Given the description of an element on the screen output the (x, y) to click on. 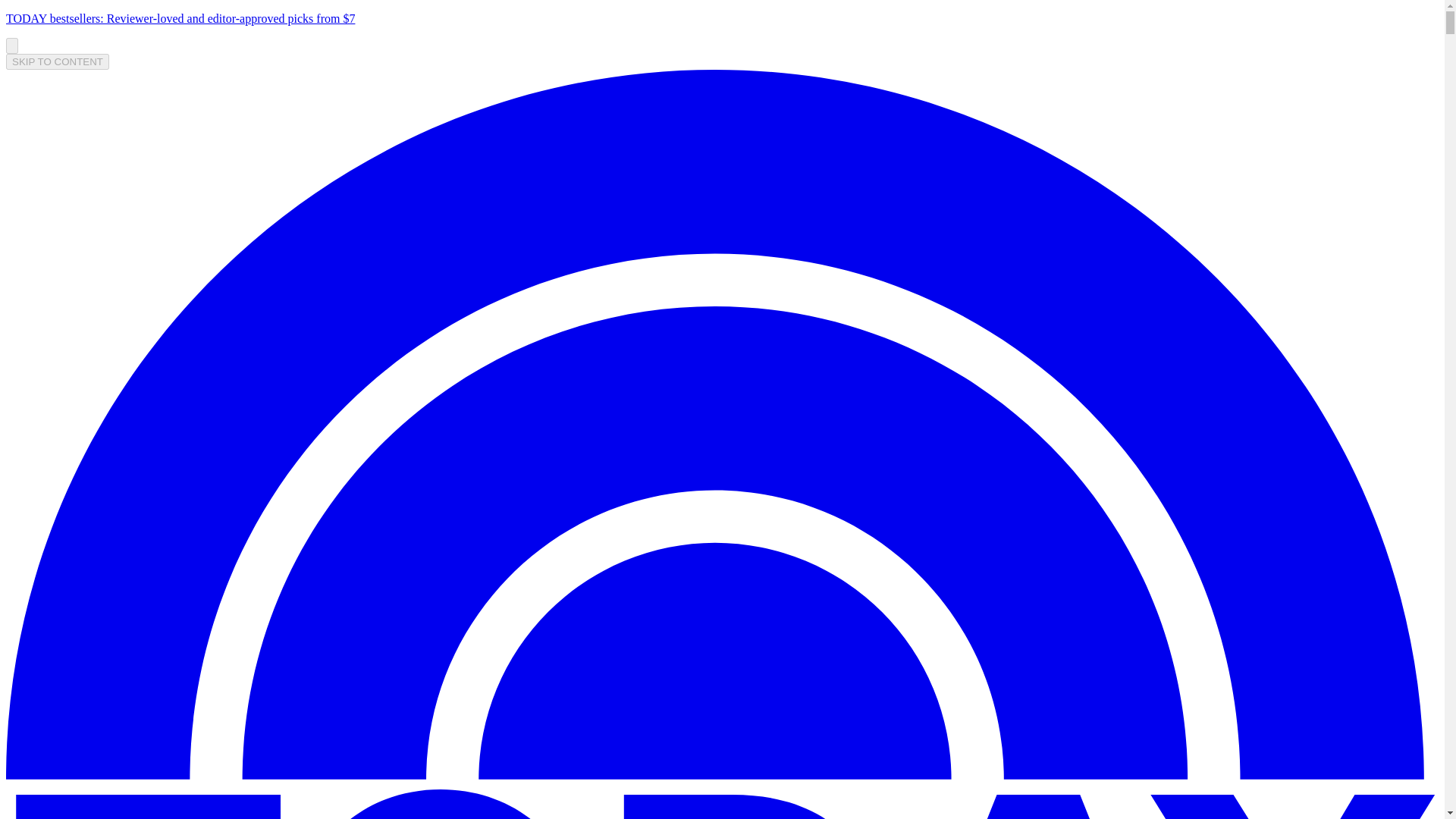
SKIP TO CONTENT (57, 61)
